Given the description of an element on the screen output the (x, y) to click on. 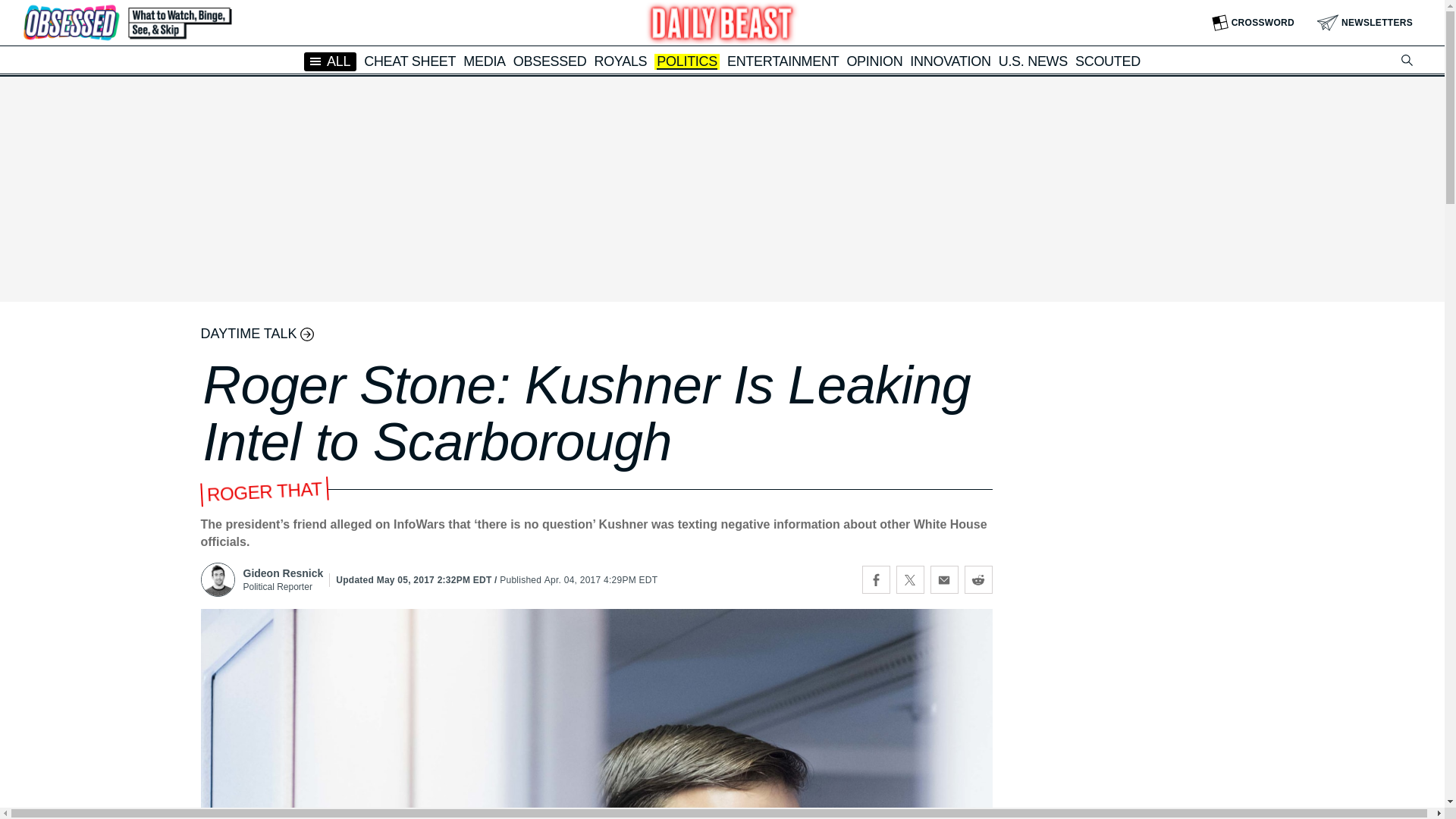
POLITICS (686, 61)
OPINION (873, 60)
NEWSLETTERS (1364, 22)
OBSESSED (549, 60)
SCOUTED (1107, 60)
CROSSWORD (1252, 22)
CHEAT SHEET (409, 60)
U.S. NEWS (1032, 60)
ALL (330, 60)
MEDIA (484, 60)
